Given the description of an element on the screen output the (x, y) to click on. 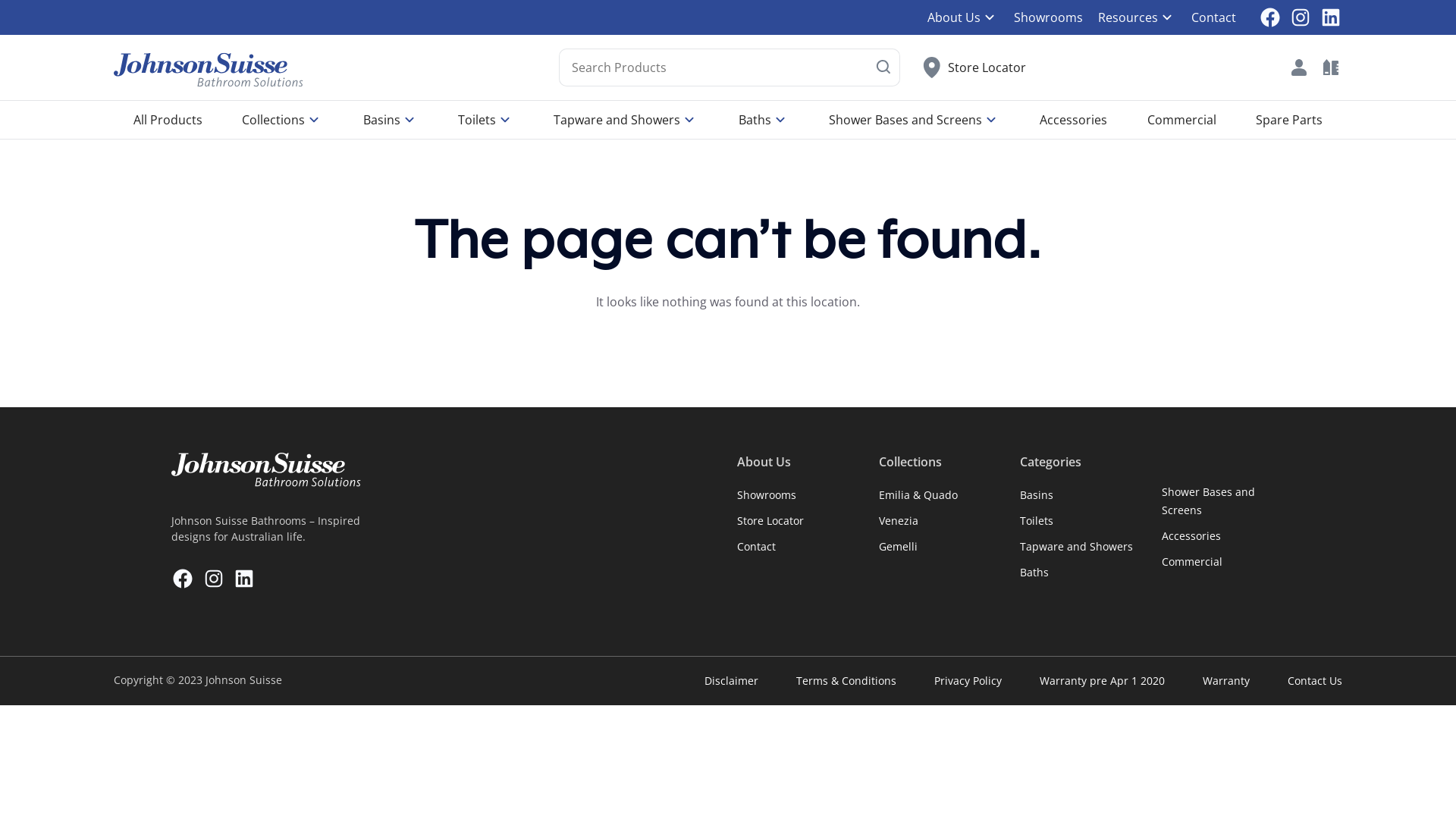
Basins Element type: text (1036, 494)
Terms & Conditions Element type: text (846, 680)
Basins Element type: text (390, 119)
Commercial Element type: text (1191, 561)
Contact Element type: text (756, 546)
Search for: Element type: hover (728, 67)
Showrooms Element type: text (1040, 17)
Shower Bases and Screens Element type: text (1208, 500)
LinkedIn Element type: text (1330, 17)
Disclaimer Element type: text (731, 680)
Instagram Element type: text (1300, 17)
Showrooms Element type: text (766, 494)
Collections Element type: text (282, 119)
Facebook Element type: text (182, 578)
Accessories Element type: text (1073, 119)
Privacy Policy Element type: text (967, 680)
Facebook Element type: text (1269, 17)
Warranty pre Apr 1 2020 Element type: text (1101, 680)
Warranty Element type: text (1225, 680)
Store Locator Element type: text (973, 67)
LinkedIn Element type: text (243, 578)
Contact Element type: text (1206, 17)
Toilets Element type: text (486, 119)
Commercial Element type: text (1181, 119)
Emilia & Quado Element type: text (917, 494)
About Us Element type: text (955, 17)
Baths Element type: text (1033, 571)
Tapware and Showers Element type: text (1075, 546)
Contact Us Element type: text (1314, 680)
Resources Element type: text (1129, 17)
Instagram Element type: text (213, 578)
Gemelli Element type: text (897, 546)
Baths Element type: text (763, 119)
Venezia Element type: text (897, 520)
Tapware and Showers Element type: text (625, 119)
Accessories Element type: text (1190, 535)
Spare Parts Element type: text (1288, 119)
Store Locator Element type: text (770, 520)
Shower Bases and Screens Element type: text (914, 119)
Toilets Element type: text (1036, 520)
All Products Element type: text (167, 119)
